Given the description of an element on the screen output the (x, y) to click on. 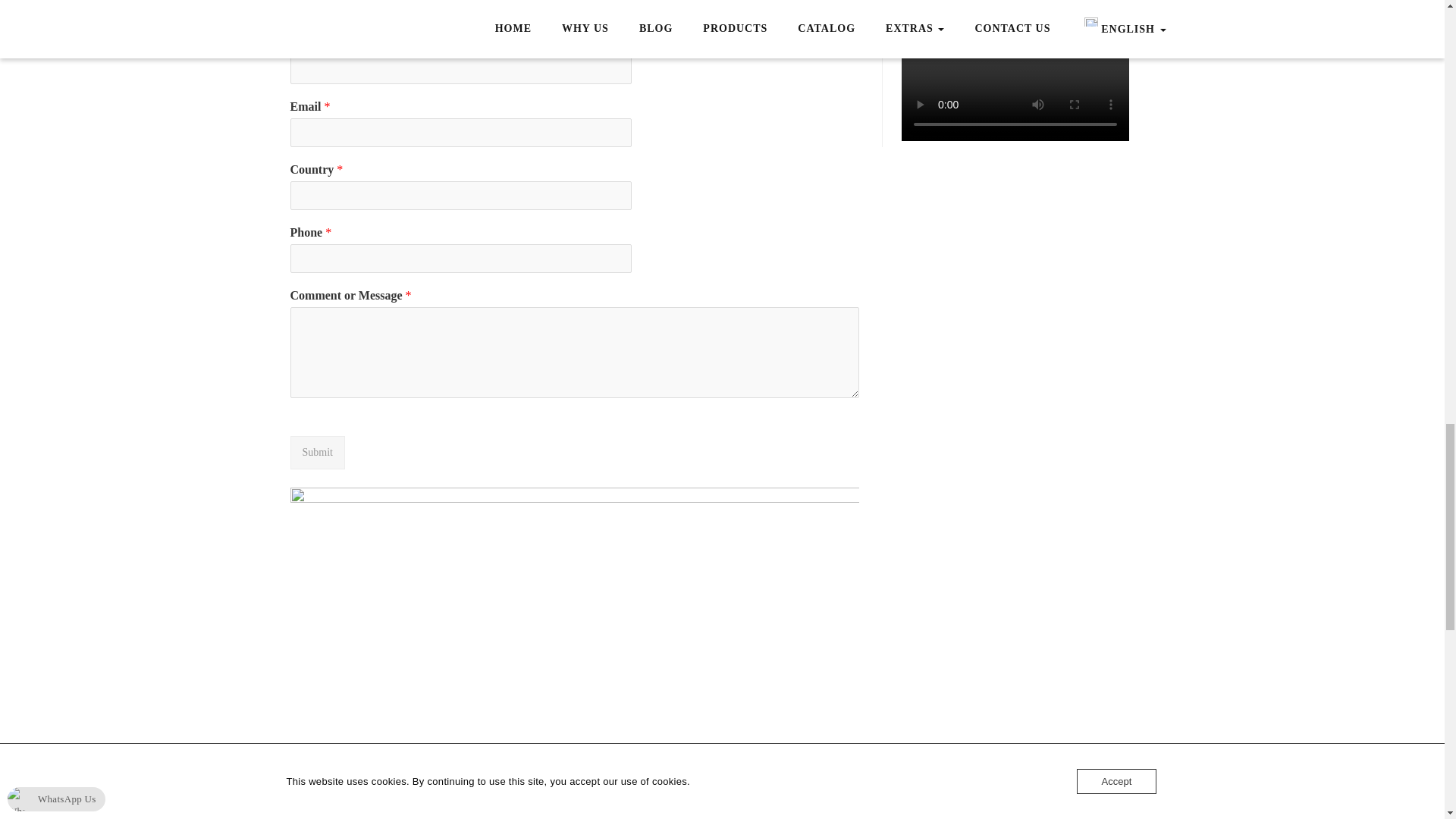
Submit (316, 451)
